Given the description of an element on the screen output the (x, y) to click on. 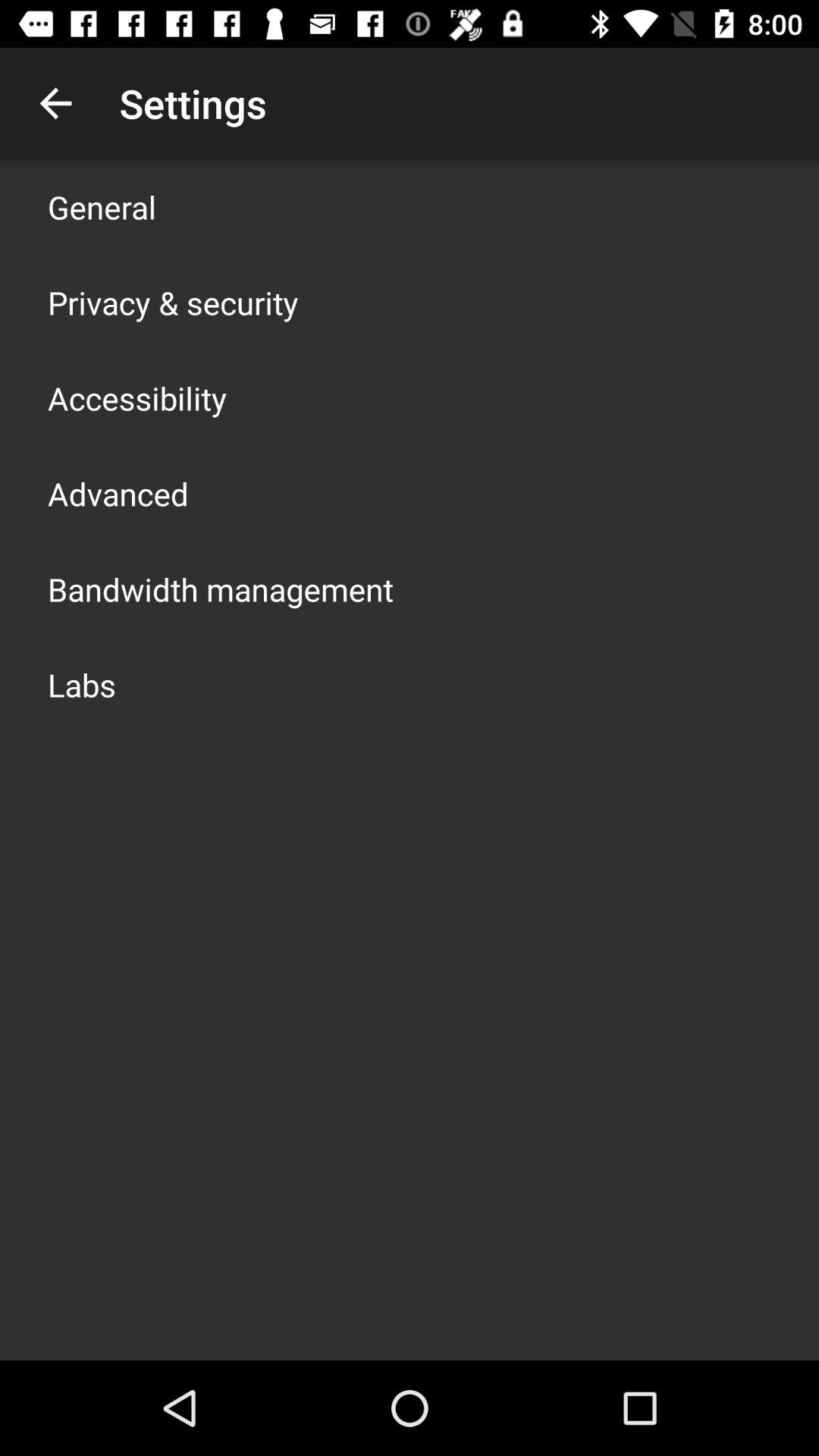
turn off app below accessibility item (117, 493)
